Given the description of an element on the screen output the (x, y) to click on. 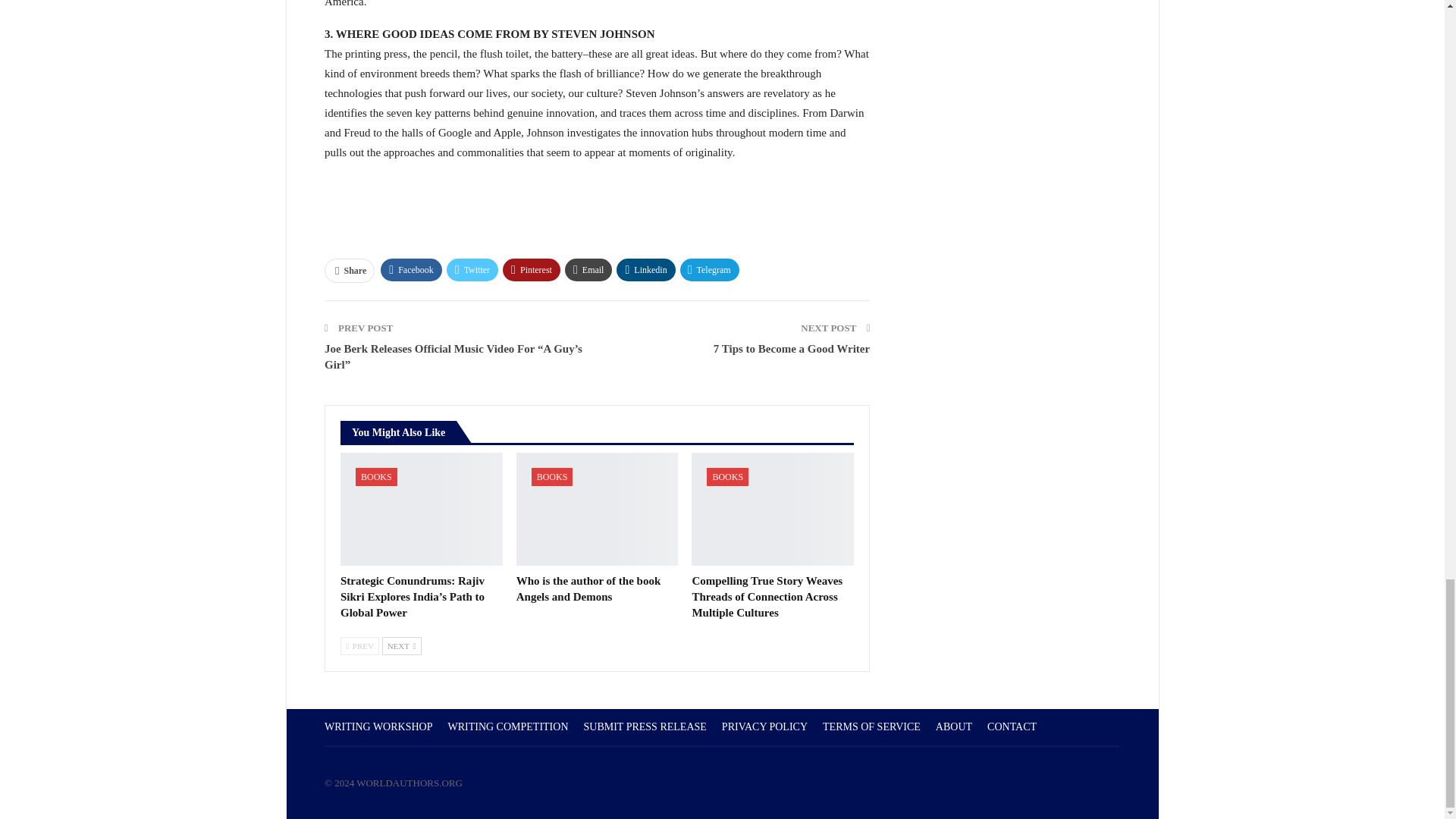
Email (588, 269)
BOOKS (552, 476)
Next (401, 646)
Telegram (709, 269)
Who is the author of the book Angels and Demons (588, 588)
Facebook (411, 269)
Pinterest (531, 269)
Twitter (471, 269)
Who is the author of the book Angels and Demons (588, 588)
Linkedin (645, 269)
Previous (359, 646)
BOOKS (727, 476)
7 Tips to Become a Good Writer (791, 348)
